Given the description of an element on the screen output the (x, y) to click on. 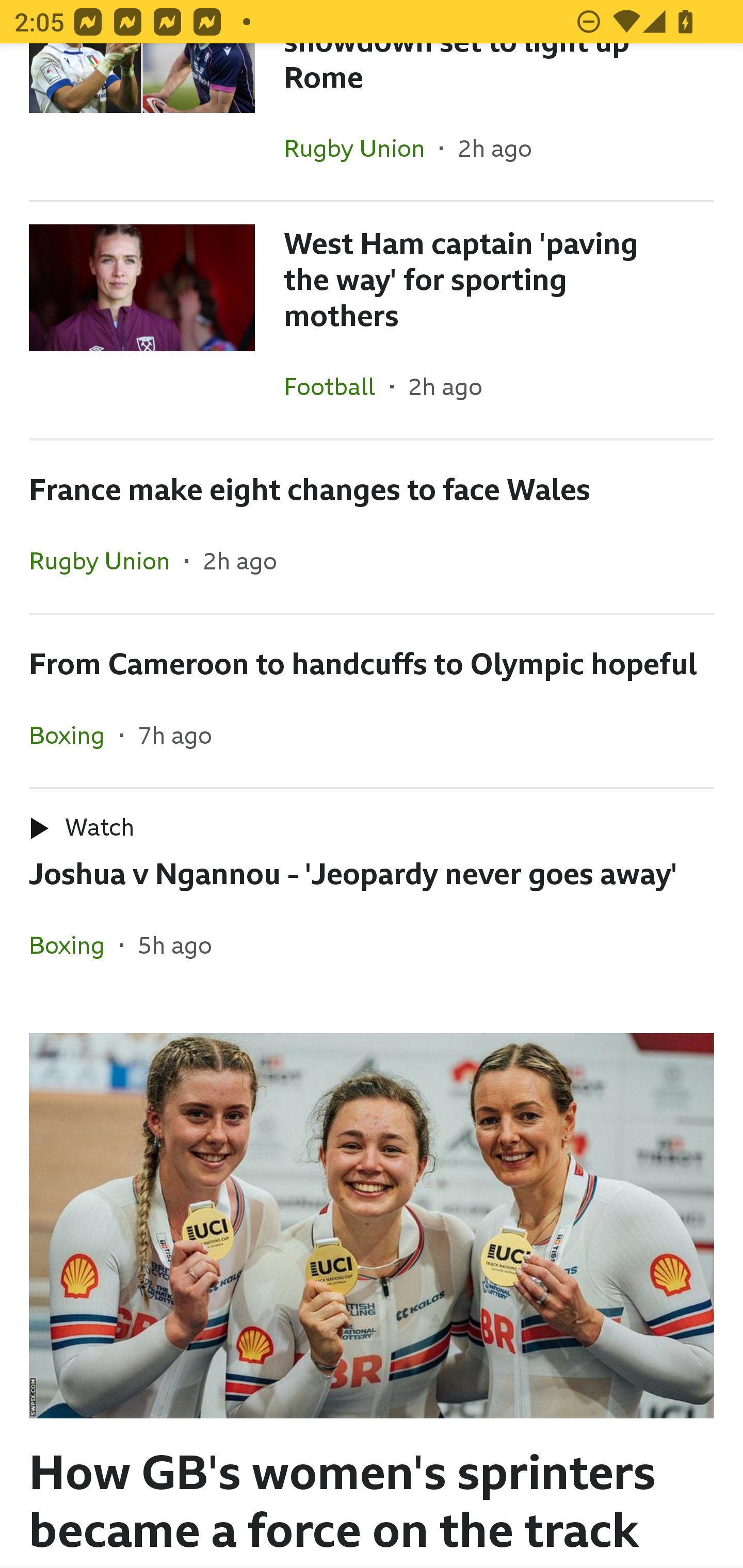
Rugby Union In the section Rugby Union (361, 147)
Football In the section Football (336, 386)
Rugby Union In the section Rugby Union (106, 560)
Boxing In the section Boxing (73, 735)
Boxing In the section Boxing (73, 944)
